Given the description of an element on the screen output the (x, y) to click on. 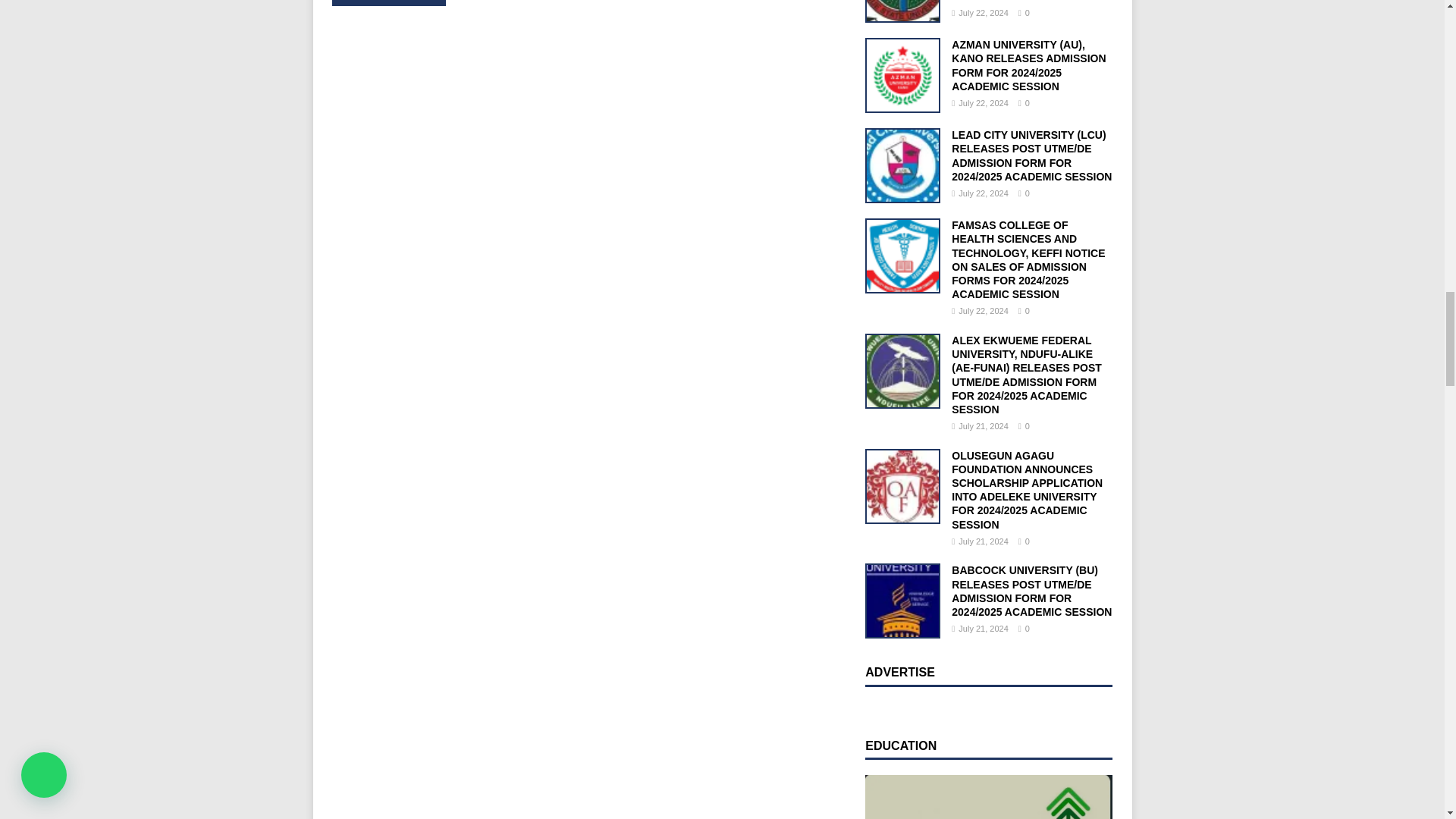
Post Comment (388, 2)
